Given the description of an element on the screen output the (x, y) to click on. 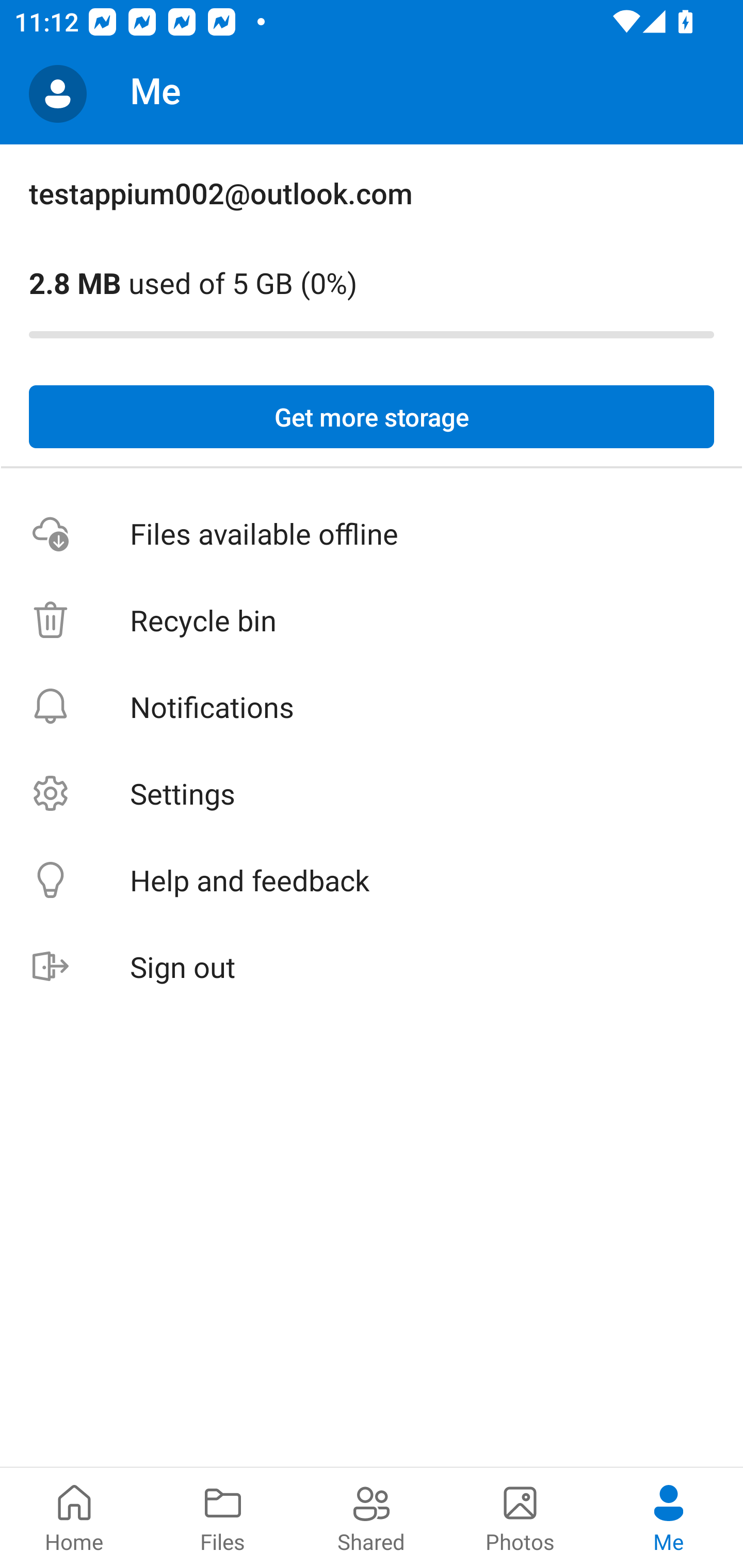
Account switcher (57, 93)
Get more storage (371, 416)
Files available offline (371, 533)
Recycle bin (371, 620)
Notifications (371, 706)
Settings (371, 793)
Help and feedback (371, 880)
Sign out (371, 966)
Home pivot Home (74, 1517)
Files pivot Files (222, 1517)
Shared pivot Shared (371, 1517)
Photos pivot Photos (519, 1517)
